Given the description of an element on the screen output the (x, y) to click on. 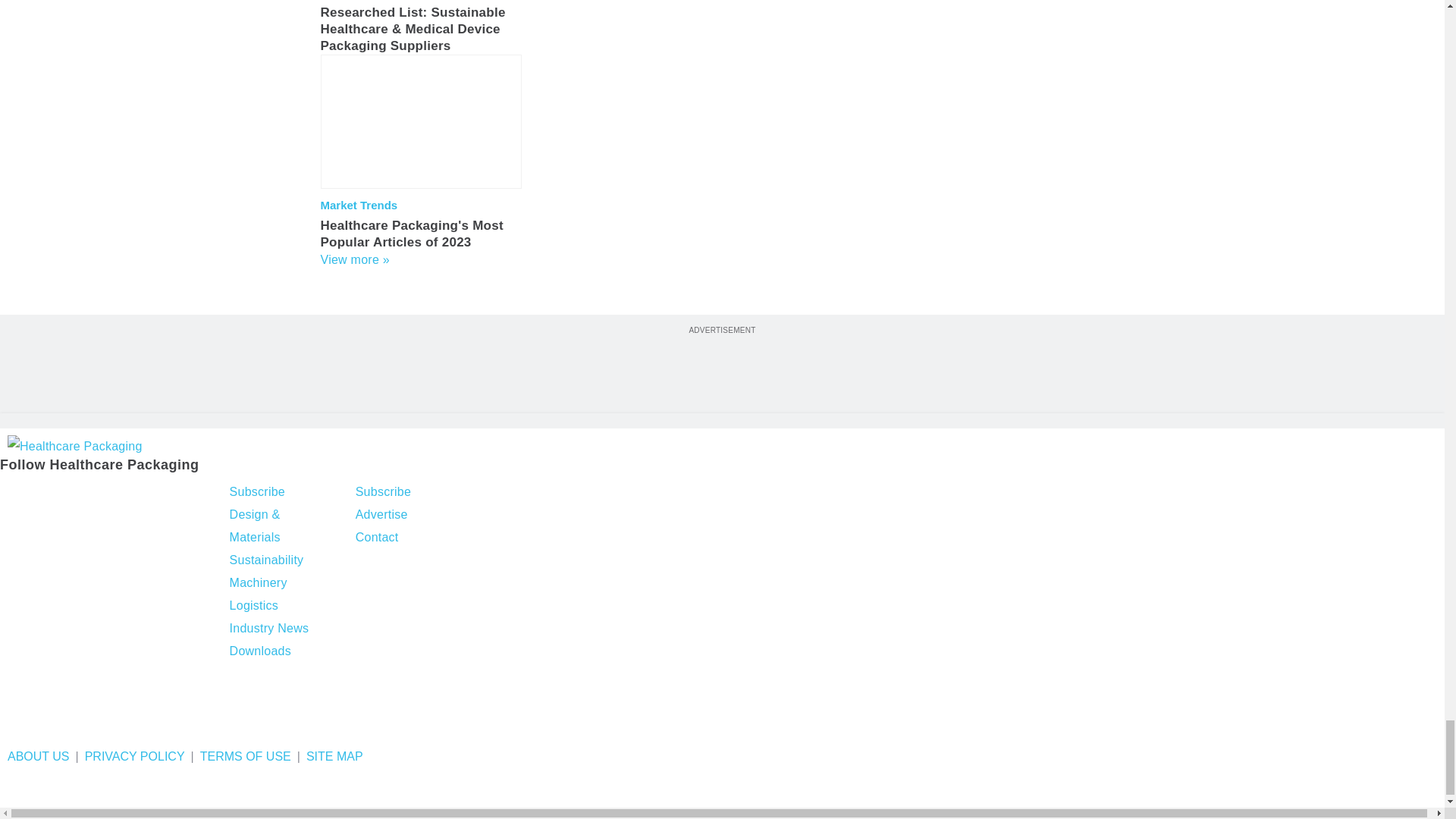
LinkedIn icon (94, 493)
Facebook icon (13, 493)
YouTube icon (133, 493)
Twitter X icon (52, 493)
